Given the description of an element on the screen output the (x, y) to click on. 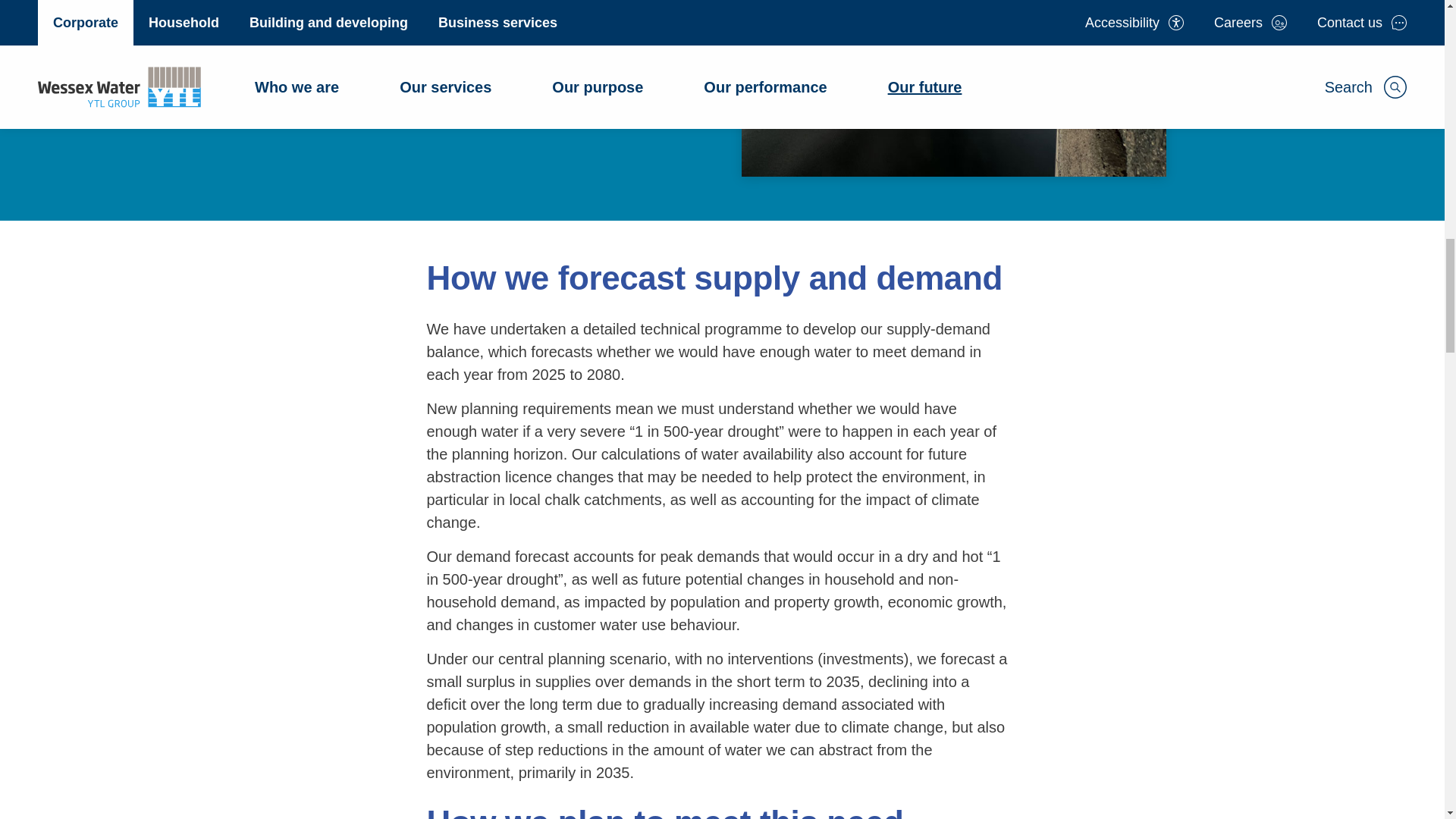
Business plan 2025-2030 (482, 101)
Our strategic direction (443, 55)
